Given the description of an element on the screen output the (x, y) to click on. 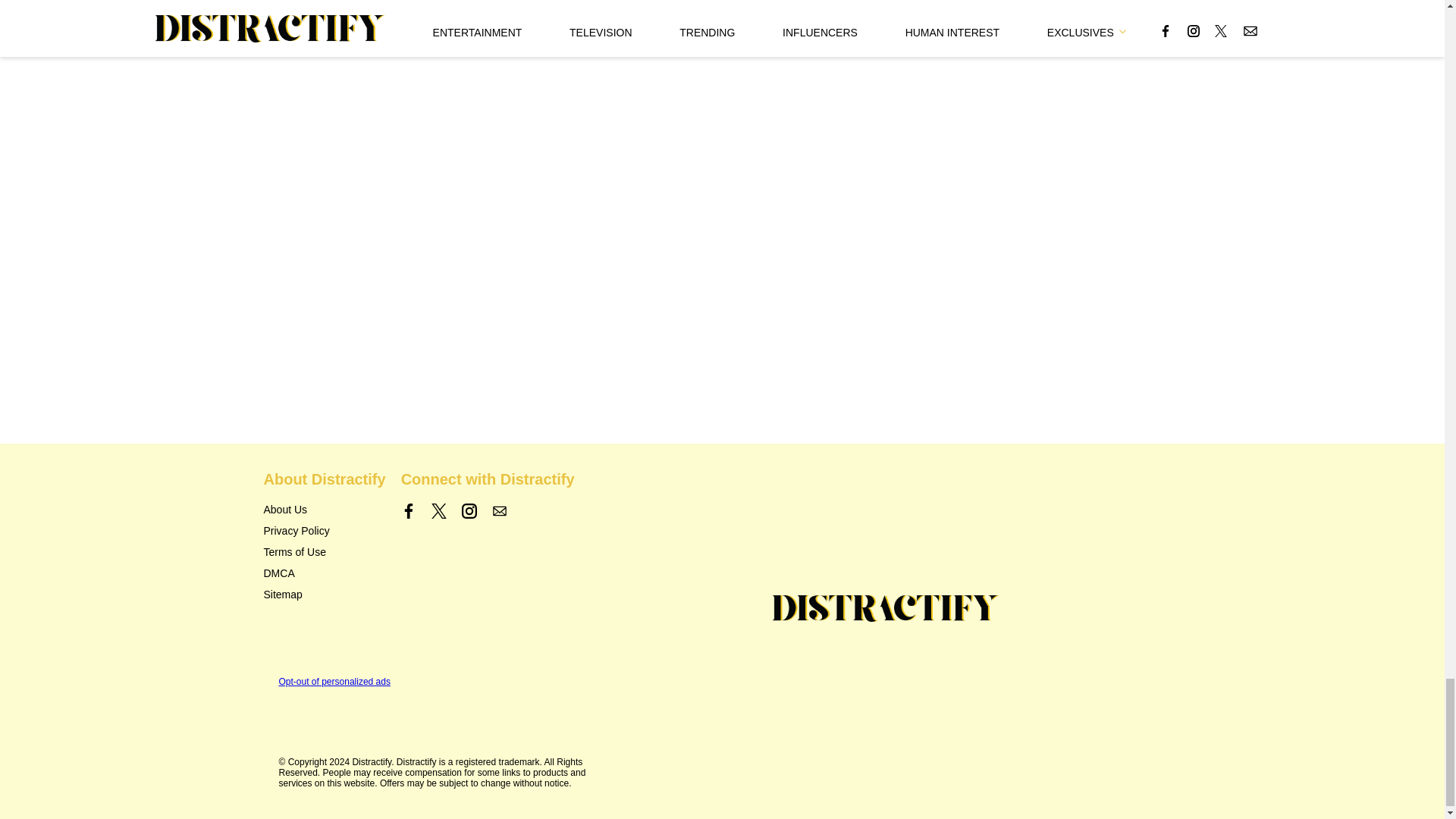
Sitemap (282, 594)
Privacy Policy (296, 530)
DMCA (279, 573)
Link to Instagram (469, 510)
About Us (285, 509)
About Us (285, 509)
Privacy Policy (296, 530)
Contact us by Email (499, 510)
Terms of Use (294, 551)
Terms of Use (294, 551)
Link to X (438, 510)
Link to Facebook (408, 510)
